Given the description of an element on the screen output the (x, y) to click on. 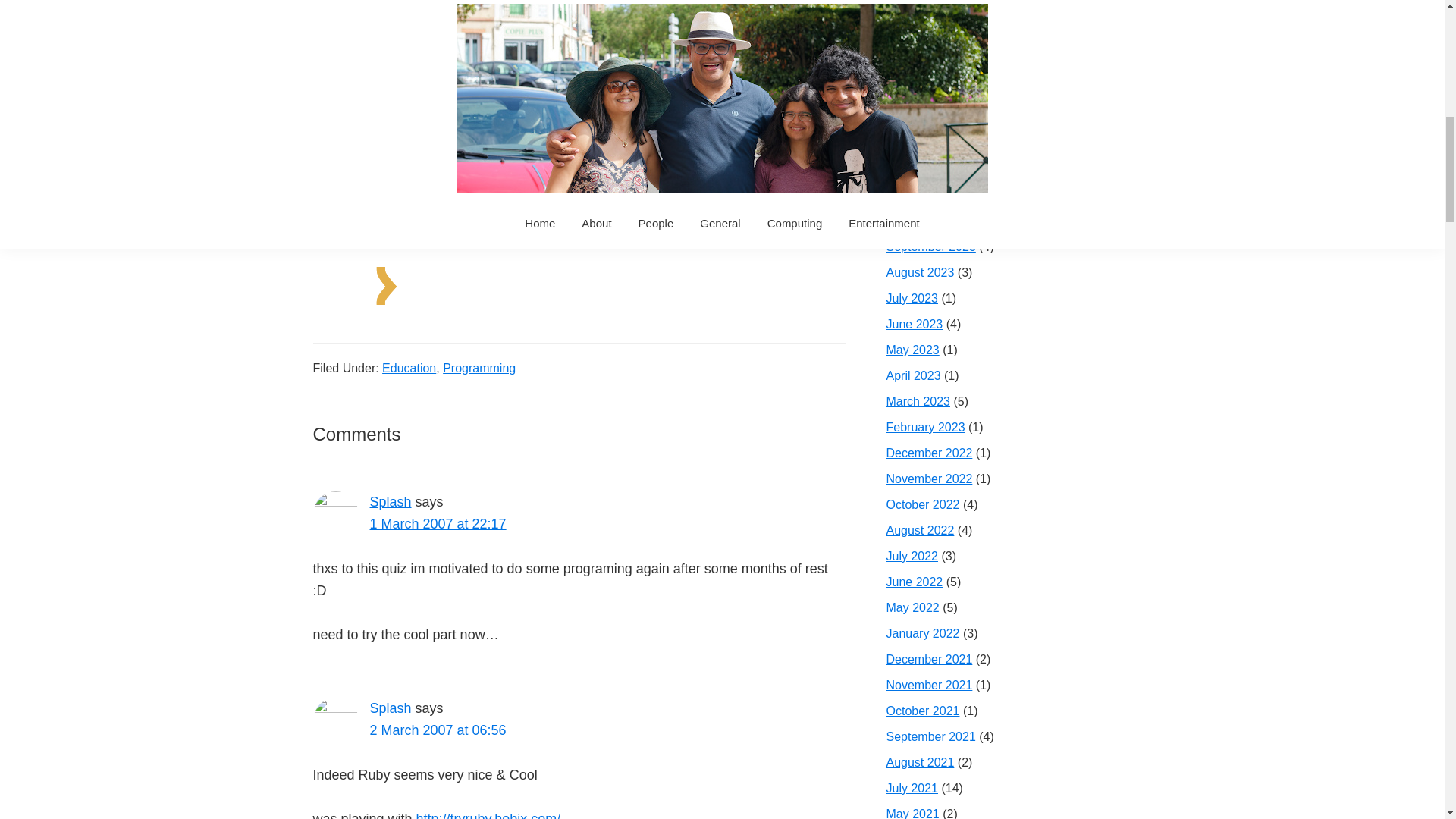
Share this on Facebook (484, 277)
Tweet this (619, 277)
Share this on Google Plus (690, 277)
Share this on LinkedIn (719, 277)
